Given the description of an element on the screen output the (x, y) to click on. 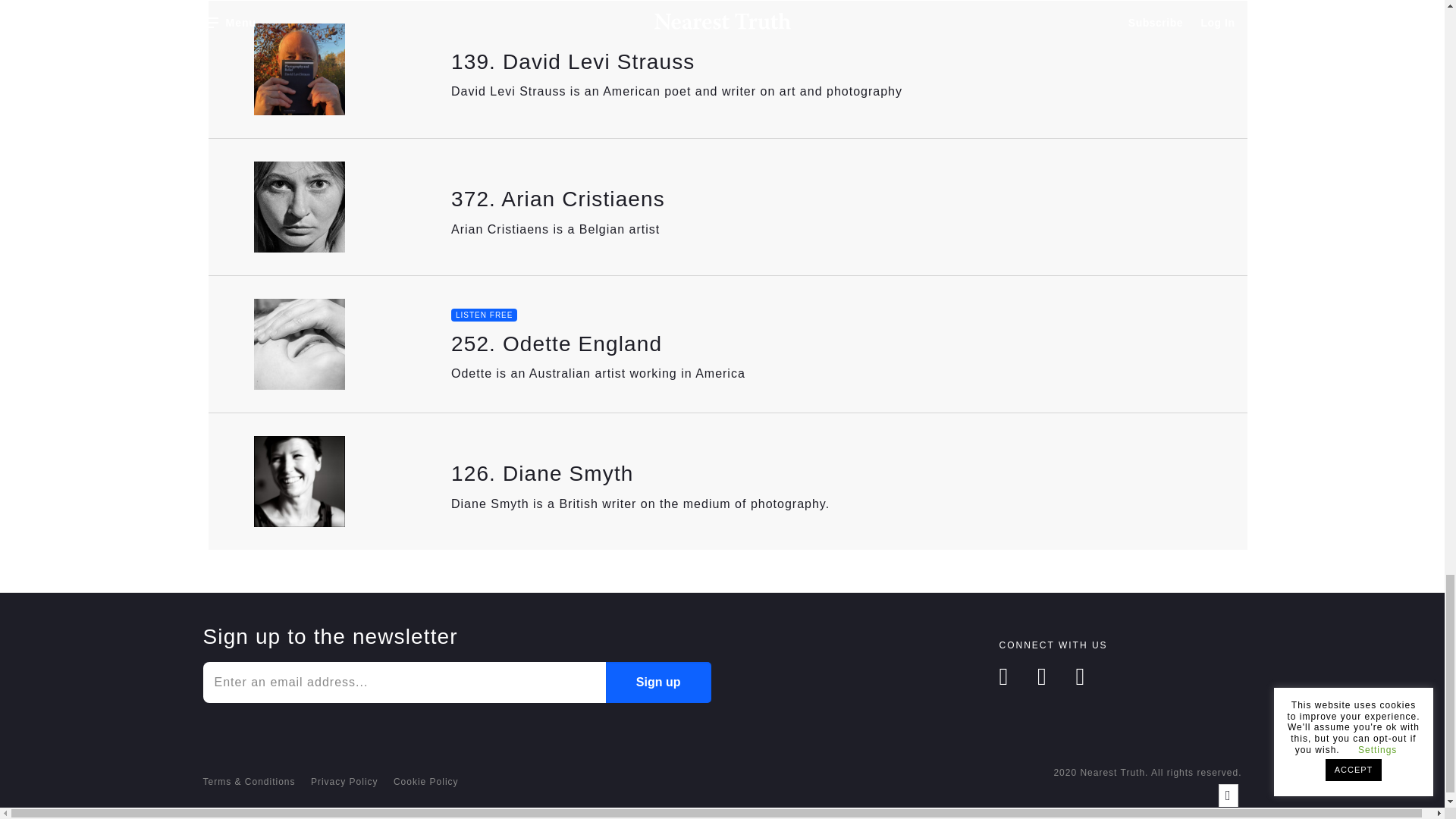
Sign up (658, 681)
